Given the description of an element on the screen output the (x, y) to click on. 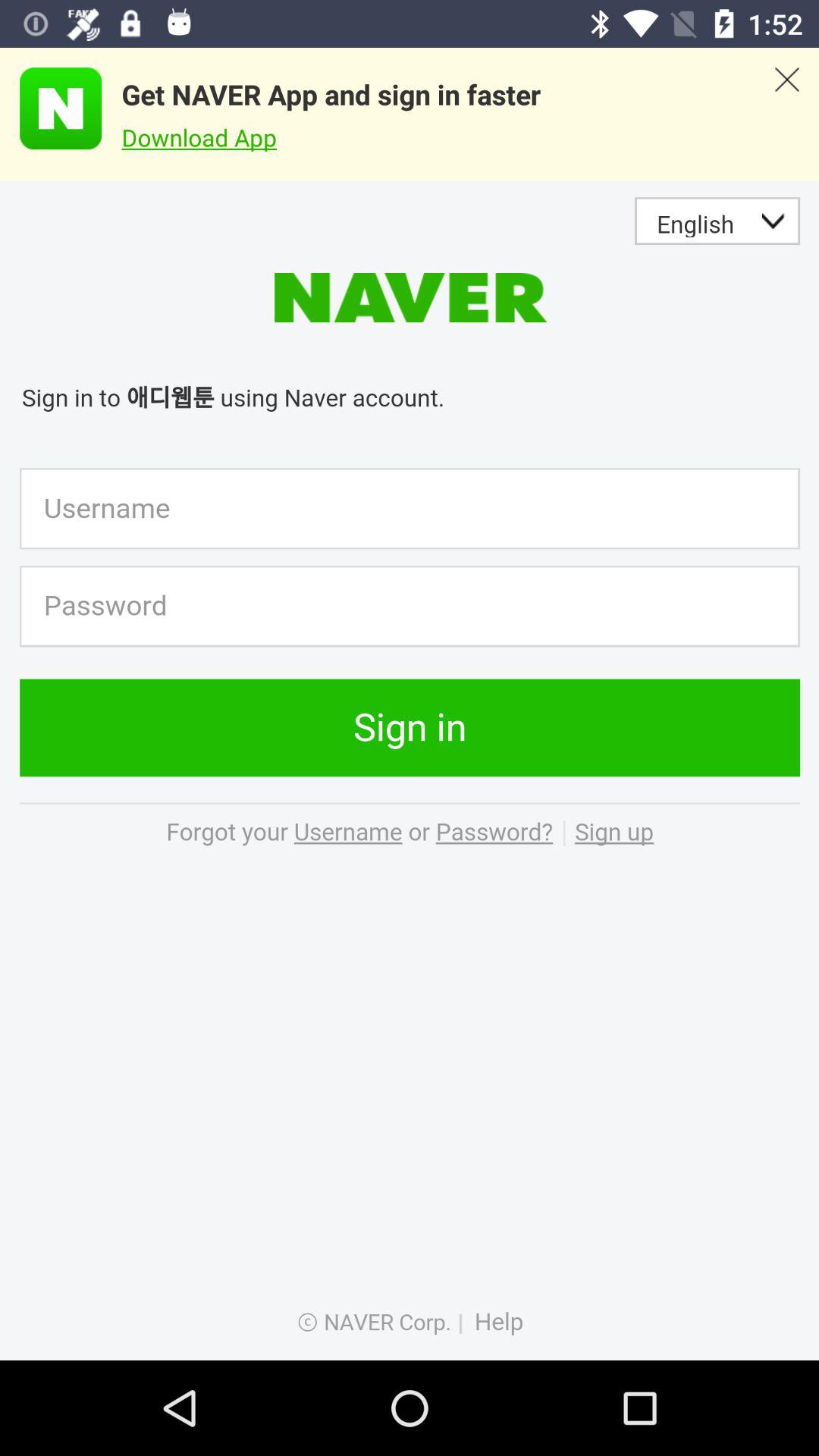
language in option (409, 770)
